Given the description of an element on the screen output the (x, y) to click on. 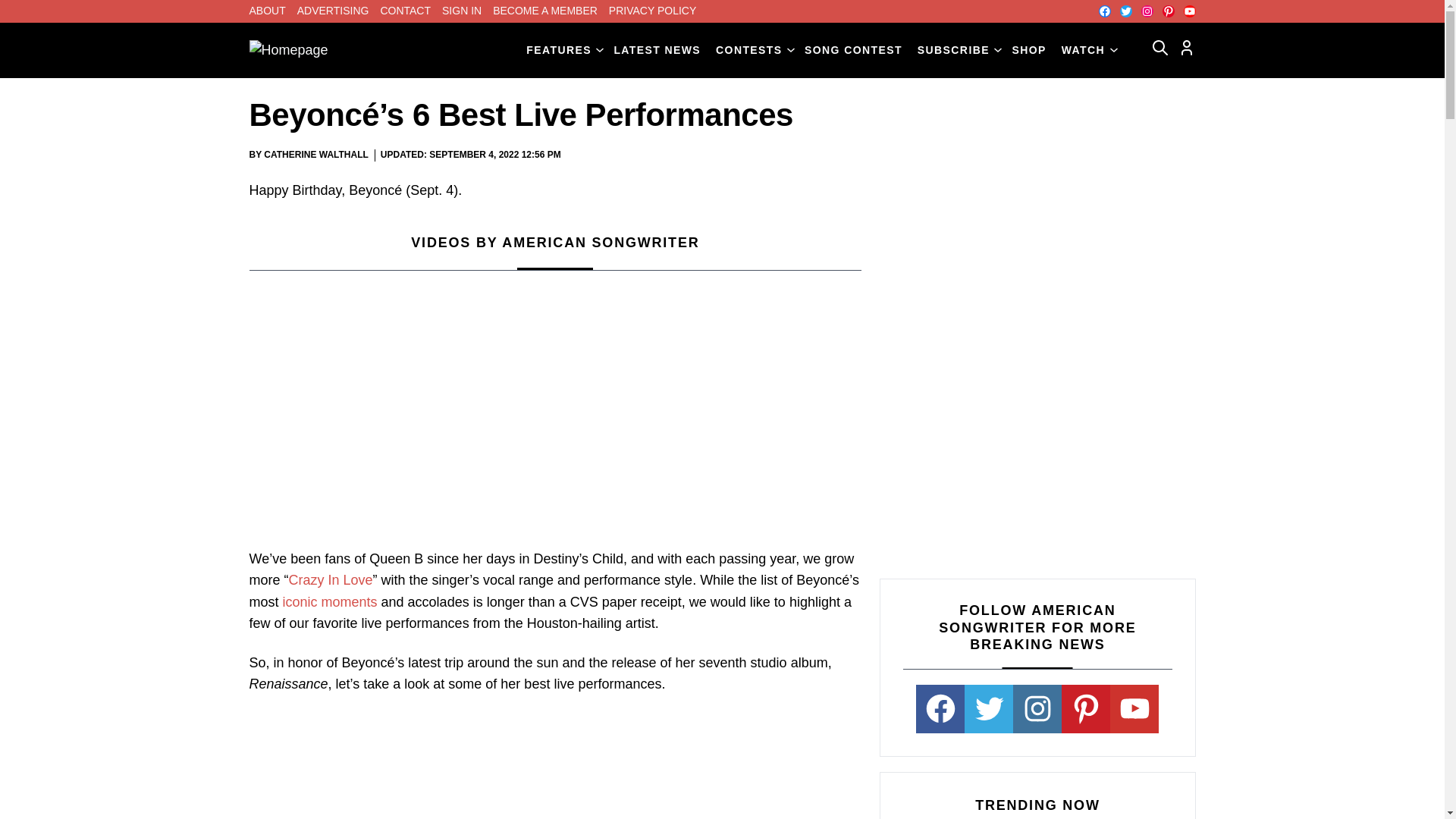
Pinterest (1167, 10)
YouTube (1188, 10)
ADVERTISING (333, 10)
PRIVACY POLICY (651, 10)
Instagram (1146, 10)
CONTACT (405, 10)
Twitter (1125, 10)
ABOUT (266, 10)
Posts by Catherine Walthall (315, 154)
September 4, 2022 12:56 pm (494, 155)
